Given the description of an element on the screen output the (x, y) to click on. 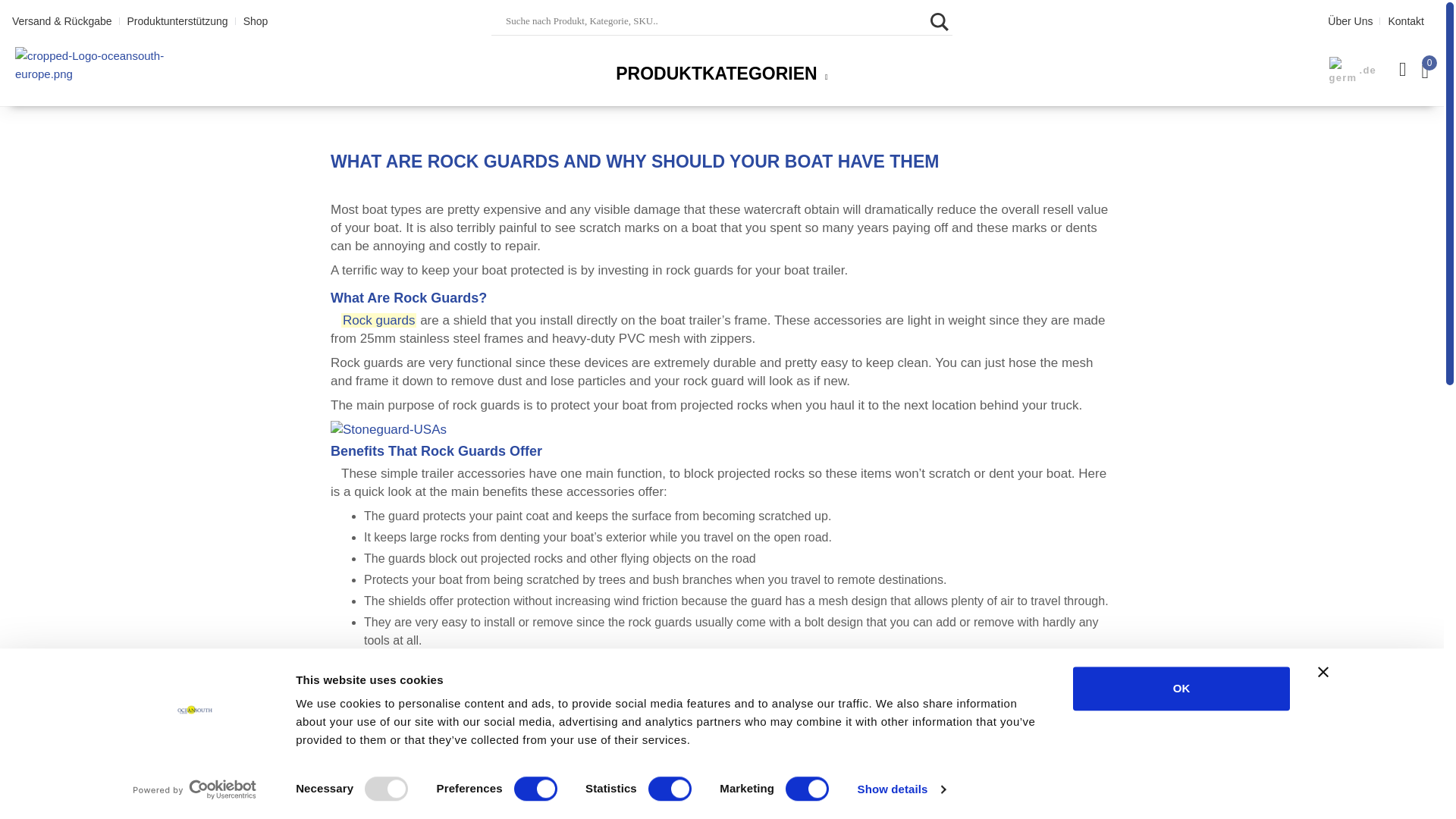
Show details (900, 789)
